Given the description of an element on the screen output the (x, y) to click on. 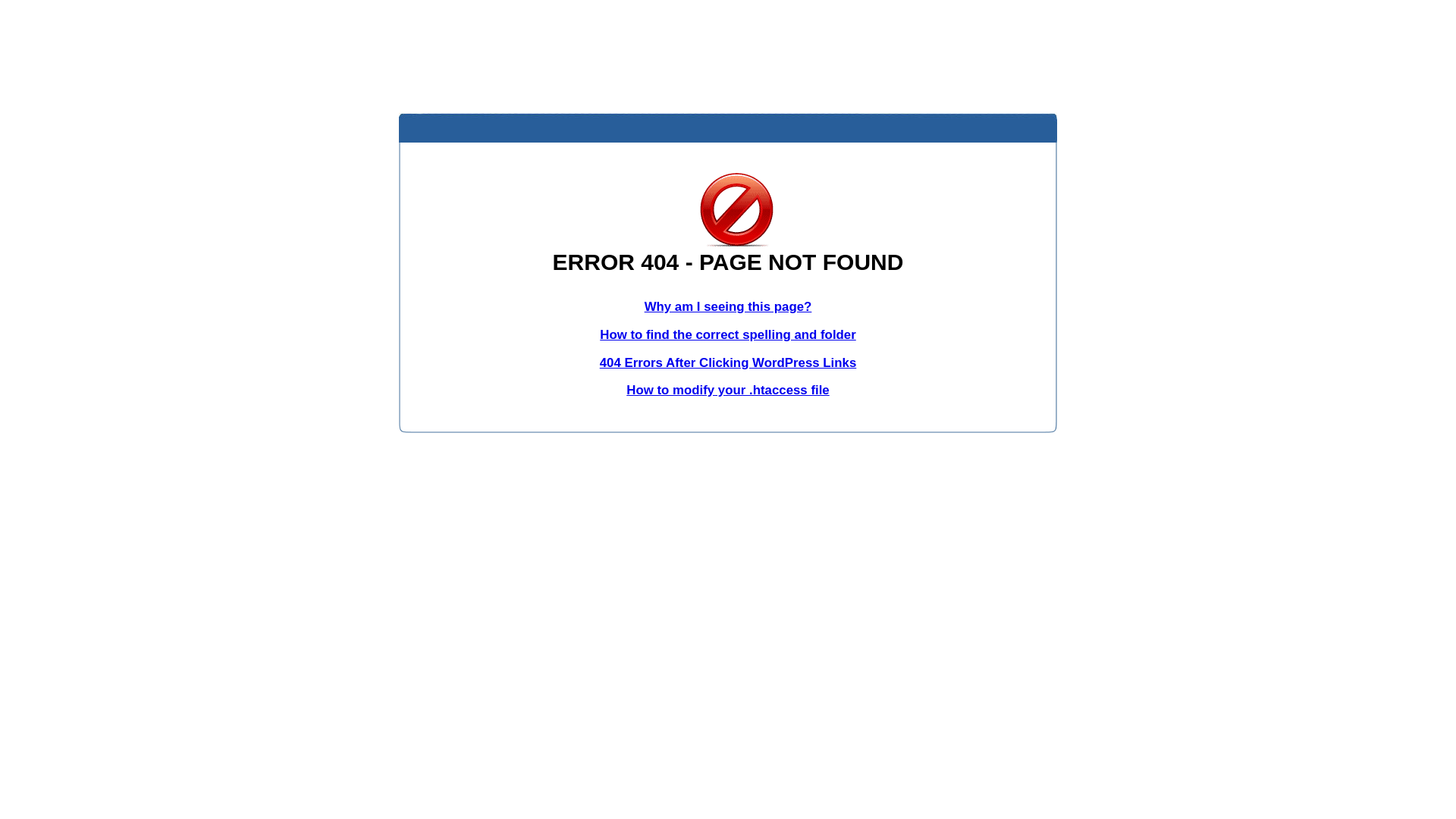
Why am I seeing this page? Element type: text (728, 306)
404 Errors After Clicking WordPress Links Element type: text (727, 362)
How to modify your .htaccess file Element type: text (727, 389)
How to find the correct spelling and folder Element type: text (727, 334)
